Given the description of an element on the screen output the (x, y) to click on. 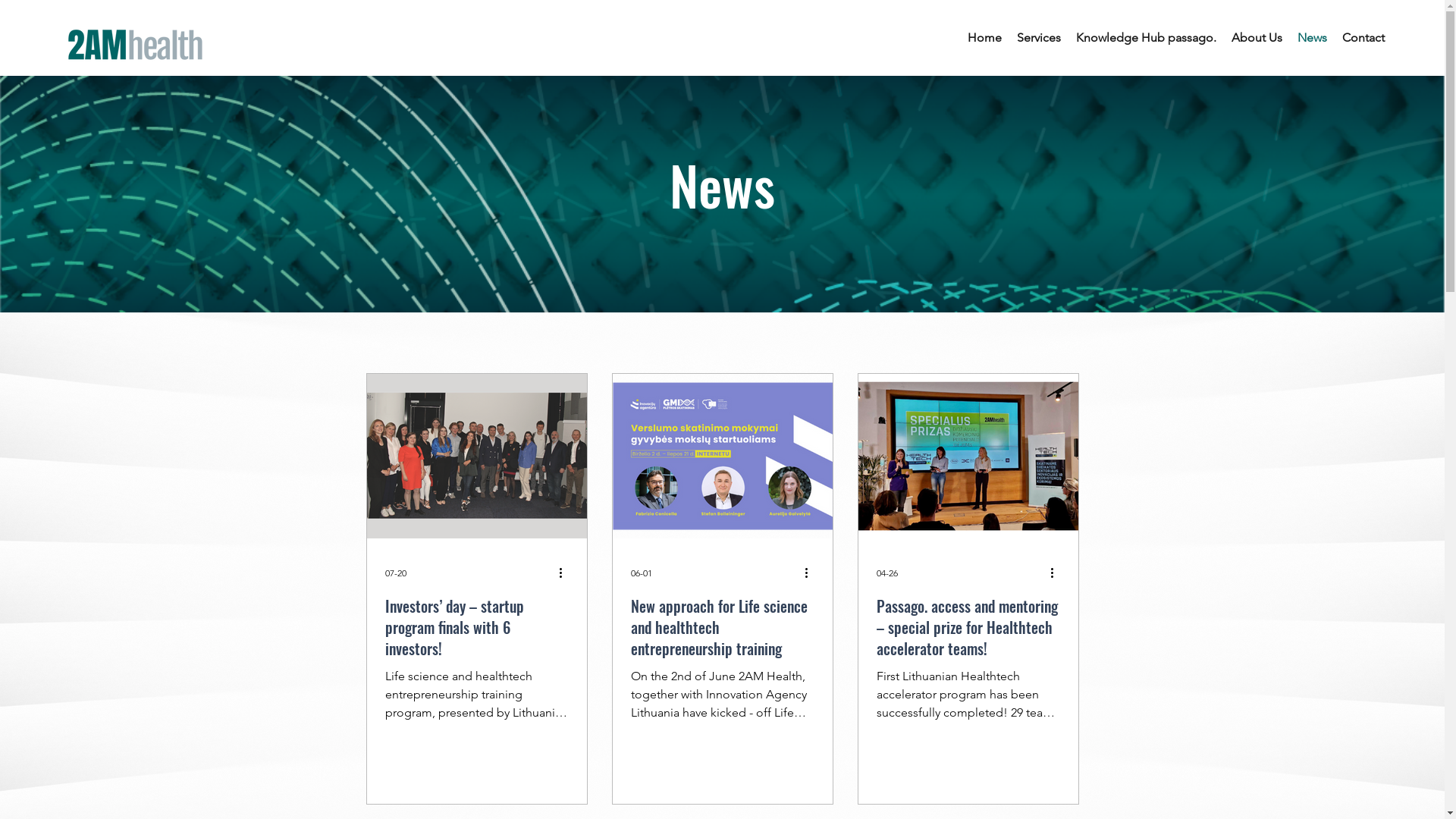
News Element type: text (1311, 37)
Contact Element type: text (1363, 37)
Knowledge Hub passago. Element type: text (1145, 37)
Home Element type: text (984, 37)
About Us Element type: text (1256, 37)
Services Element type: text (1038, 37)
